Given the description of an element on the screen output the (x, y) to click on. 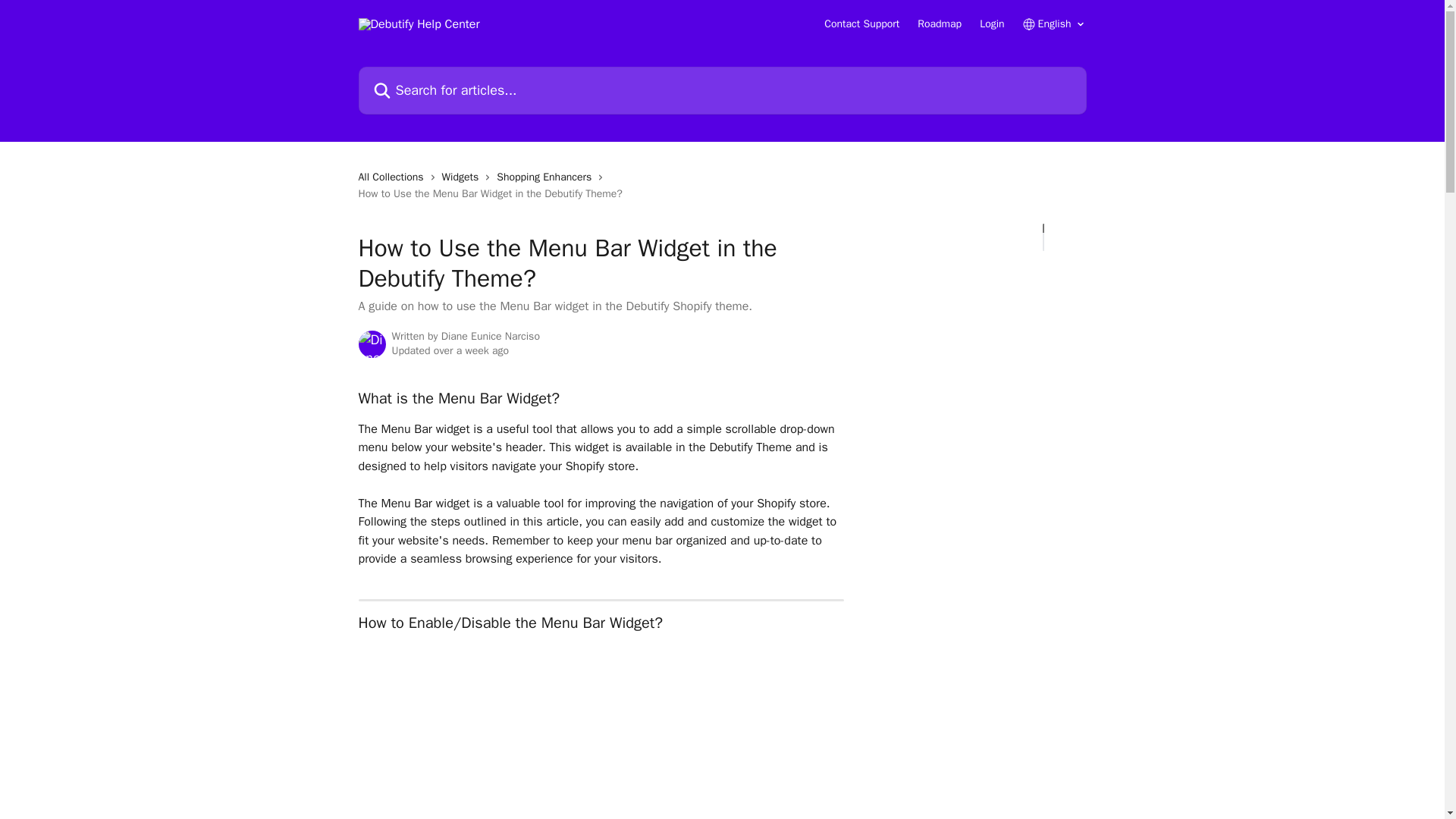
Shopping Enhancers (546, 176)
Roadmap (938, 23)
Contact Support (861, 23)
Widgets (463, 176)
Login (991, 23)
All Collections (393, 176)
